Given the description of an element on the screen output the (x, y) to click on. 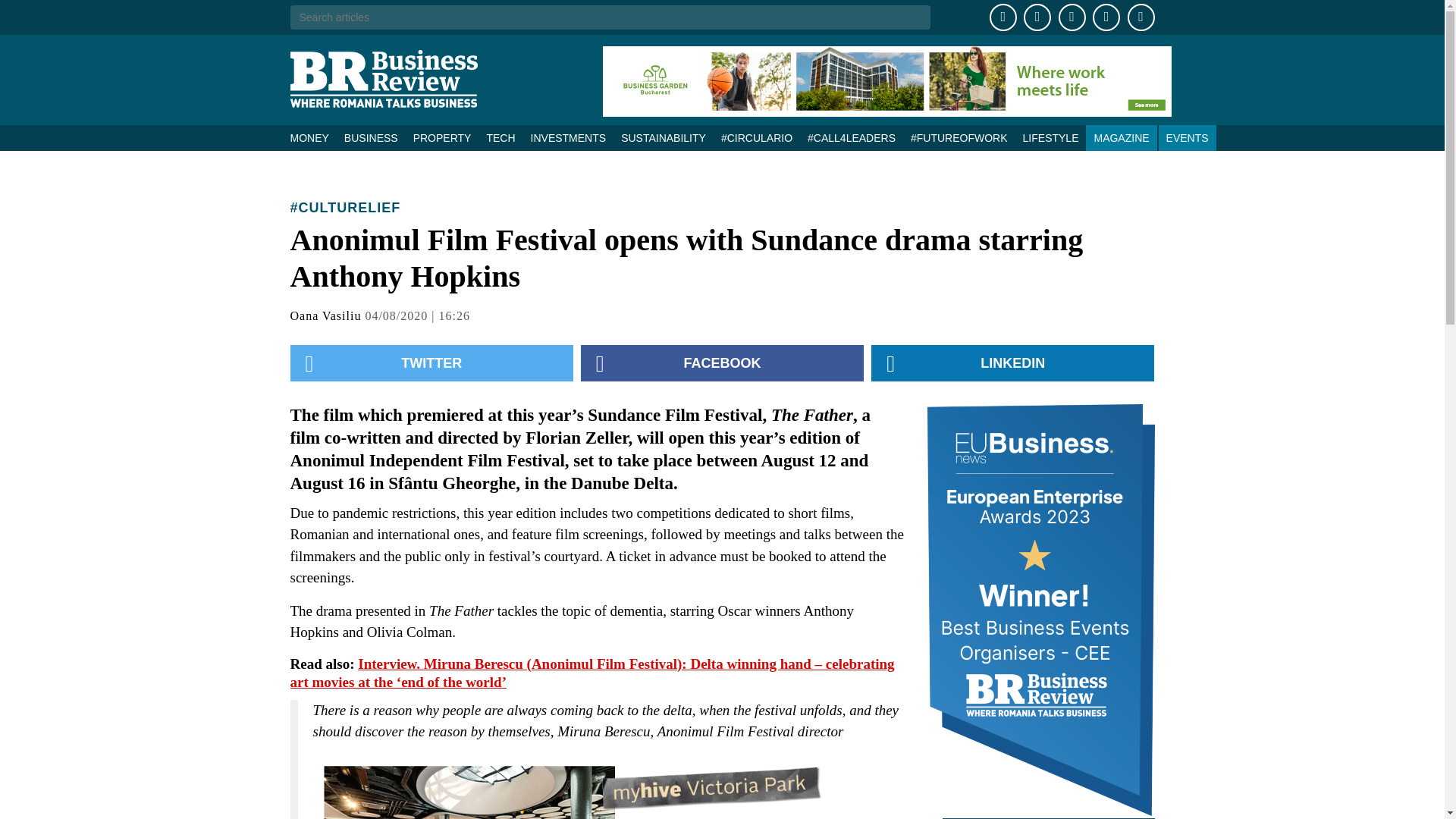
FACEBOOK (721, 362)
MONEY (312, 137)
EVENTS (1186, 137)
BUSINESS (371, 137)
LIFESTYLE (1050, 137)
LINKEDIN (1012, 362)
TWITTER (430, 362)
TECH (500, 137)
PROPERTY (442, 137)
MAGAZINE (1121, 137)
INVESTMENTS (568, 137)
Oana Vasiliu (325, 315)
SUSTAINABILITY (662, 137)
